Given the description of an element on the screen output the (x, y) to click on. 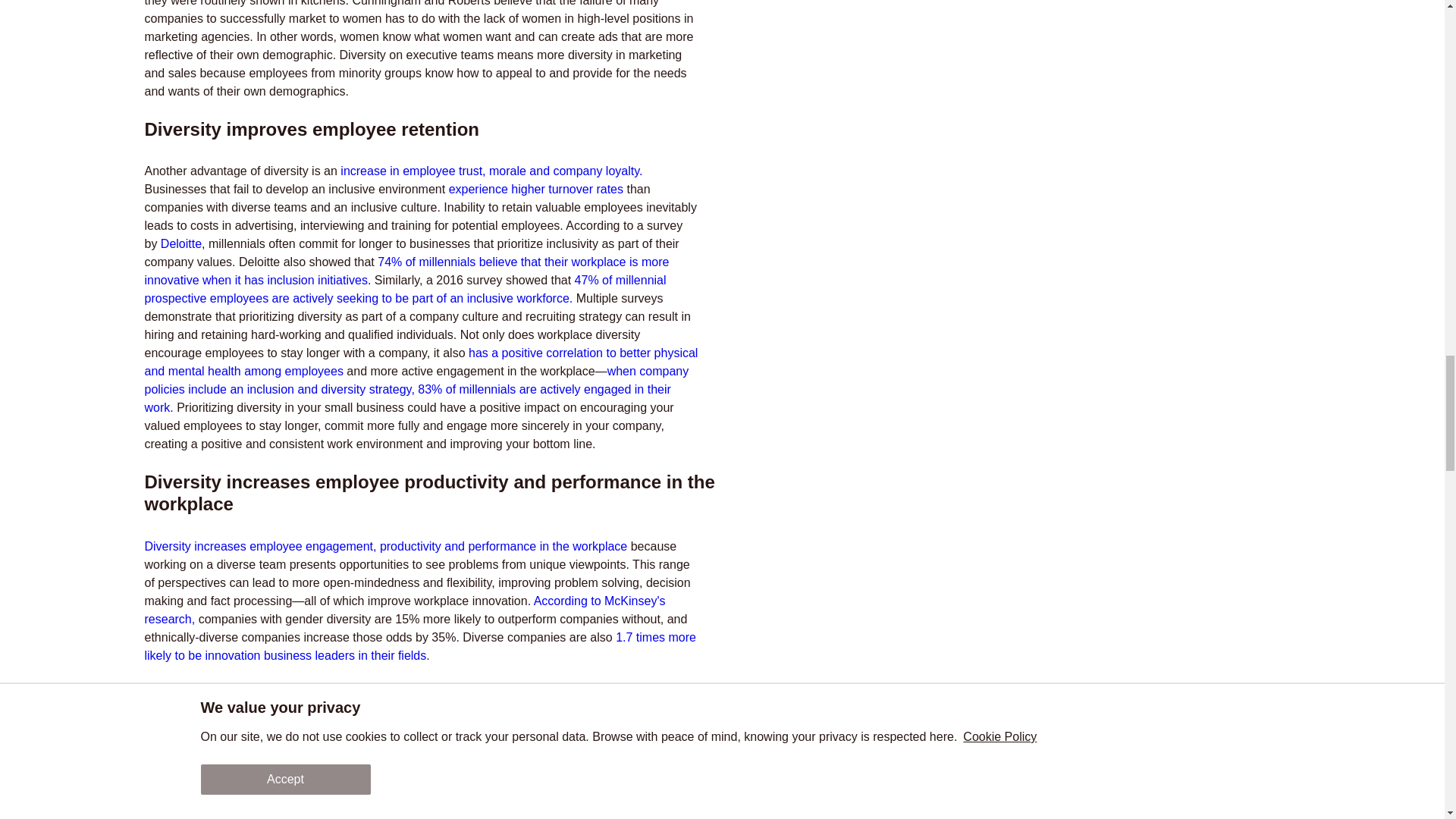
experience higher turnover rates (535, 188)
increase in employee trust, morale and company loyalty. (491, 170)
Deloitte (181, 243)
Harvard Business Review, (306, 780)
According to McKinsey's research, (404, 609)
